Given the description of an element on the screen output the (x, y) to click on. 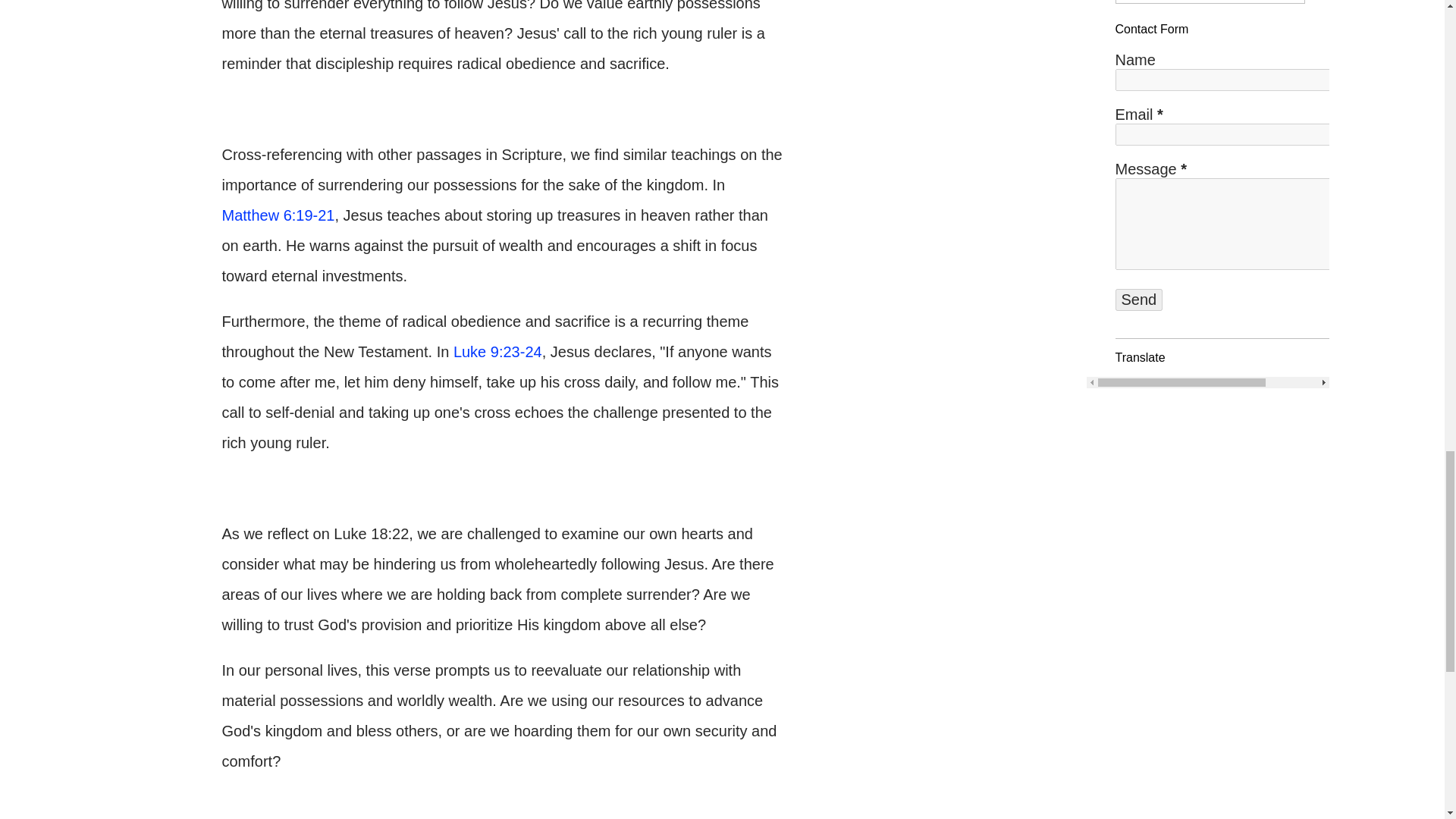
Luke 9:23-24 (496, 351)
Matthew 6:19-21 (277, 215)
Send (1138, 300)
